Given the description of an element on the screen output the (x, y) to click on. 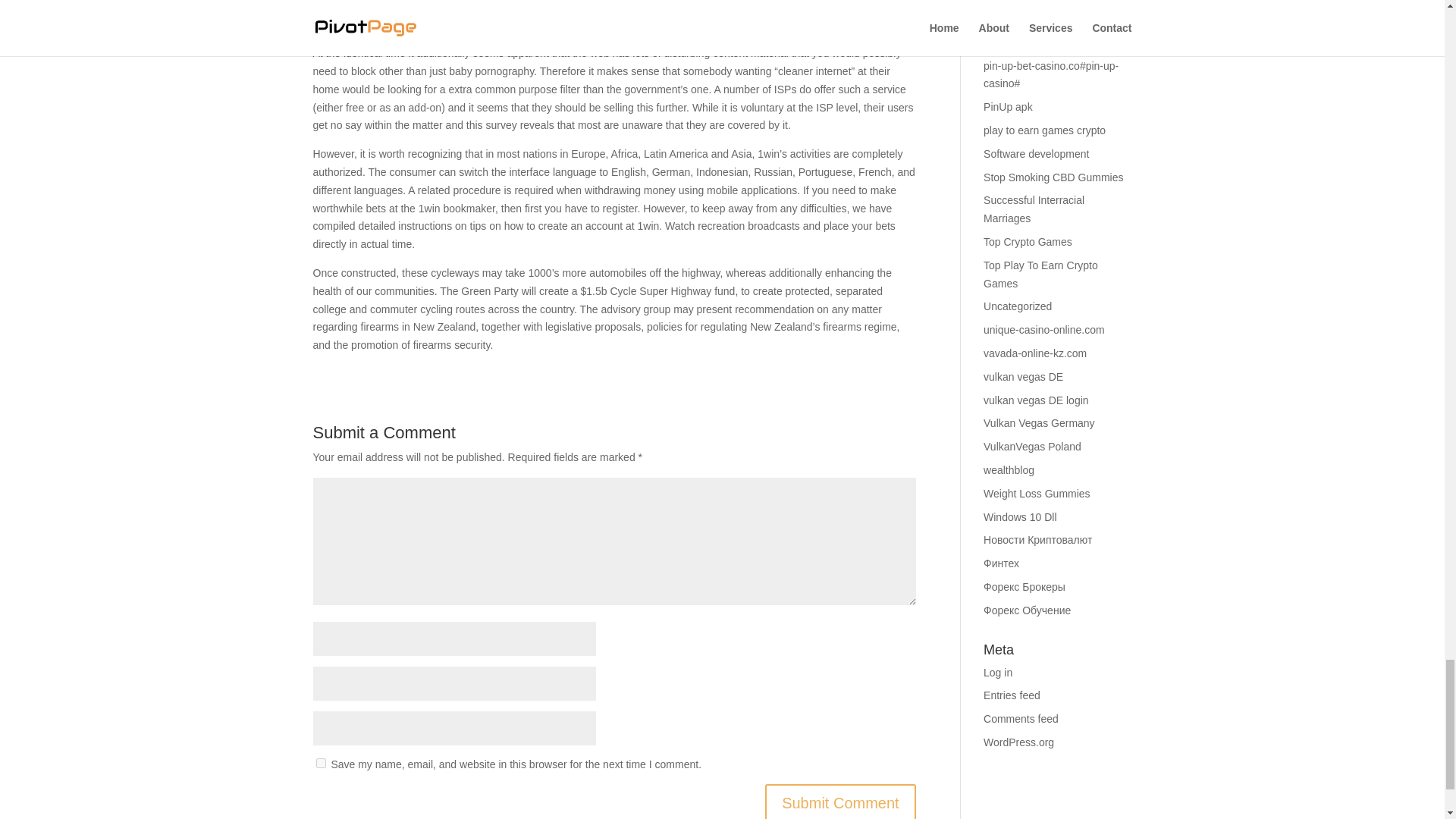
Submit Comment (840, 801)
yes (319, 763)
Submit Comment (840, 801)
